Given the description of an element on the screen output the (x, y) to click on. 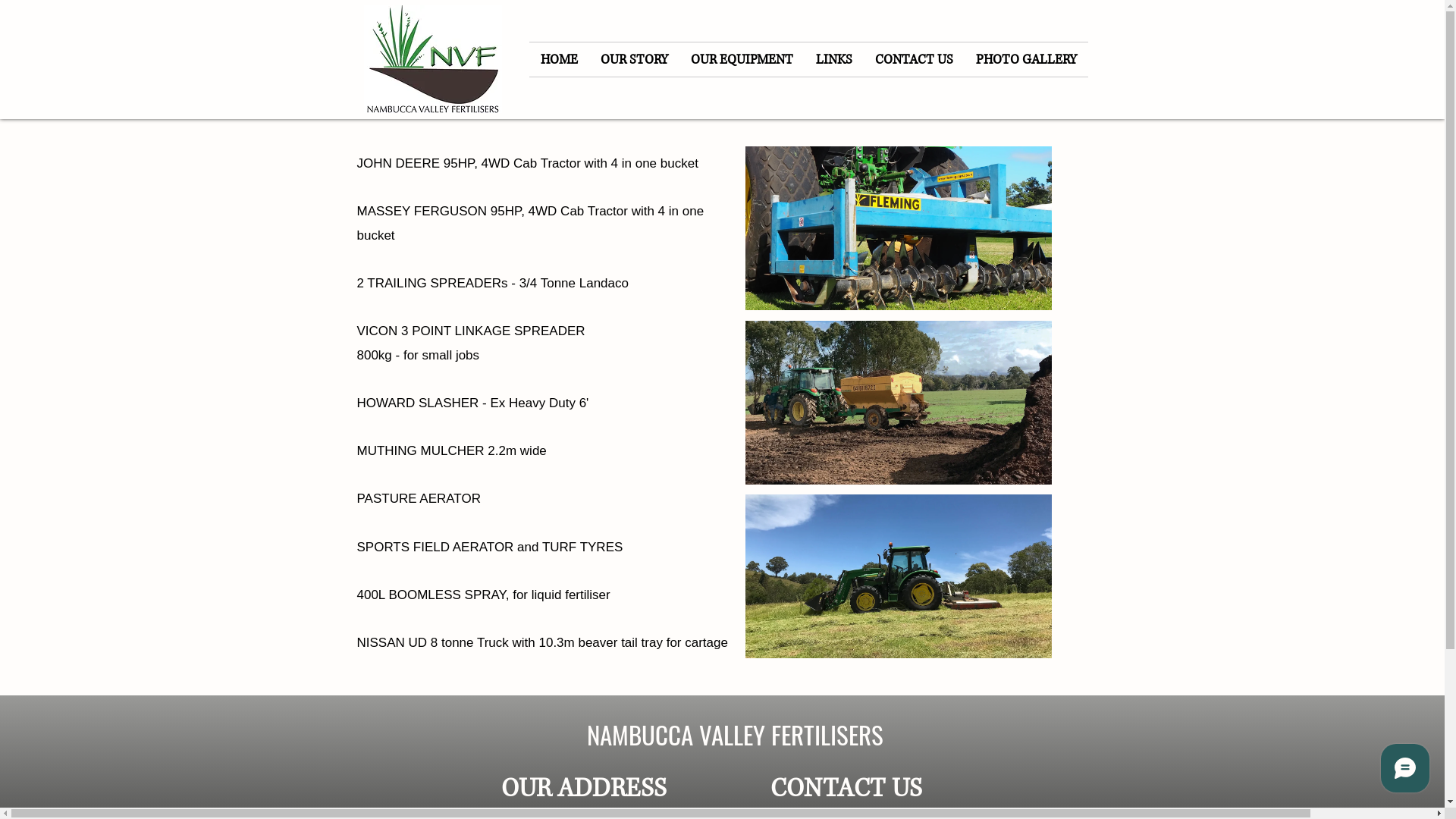
OUR EQUIPMENT Element type: text (741, 59)
LINKS Element type: text (832, 59)
HOME Element type: text (559, 59)
OUR STORY Element type: text (633, 59)
CONTACT US Element type: text (912, 59)
PHOTO GALLERY Element type: text (1026, 59)
Wix Chat Element type: hover (1408, 771)
